Given the description of an element on the screen output the (x, y) to click on. 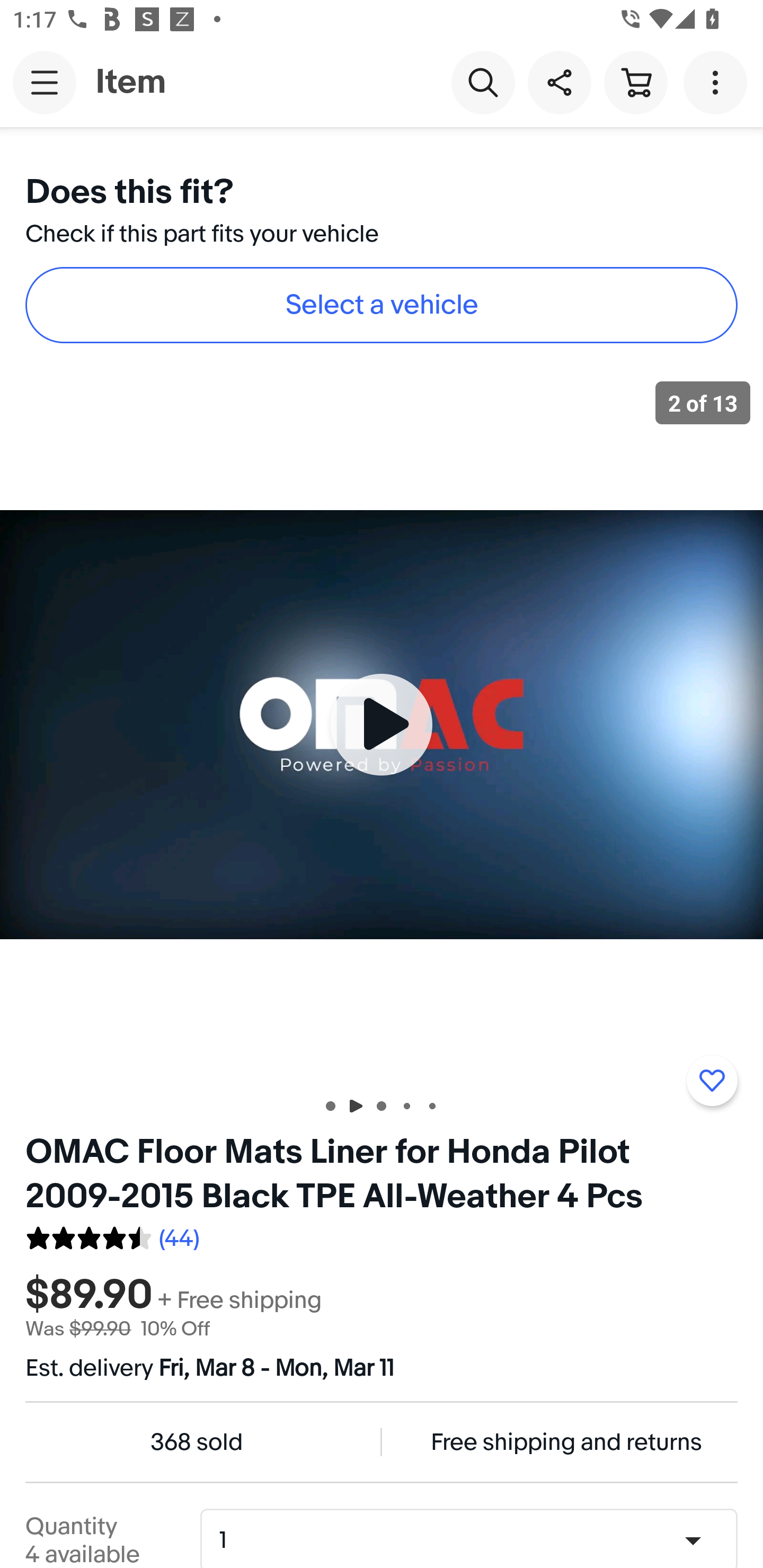
Main navigation, open (44, 82)
Search (482, 81)
Share this item (559, 81)
Cart button shopping cart (635, 81)
More options (718, 81)
Select a vehicle (381, 304)
Item image 2 of 13, plays video (381, 724)
Add to watchlist (711, 1080)
Quantity,1,4 available 1 (474, 1540)
